Given the description of an element on the screen output the (x, y) to click on. 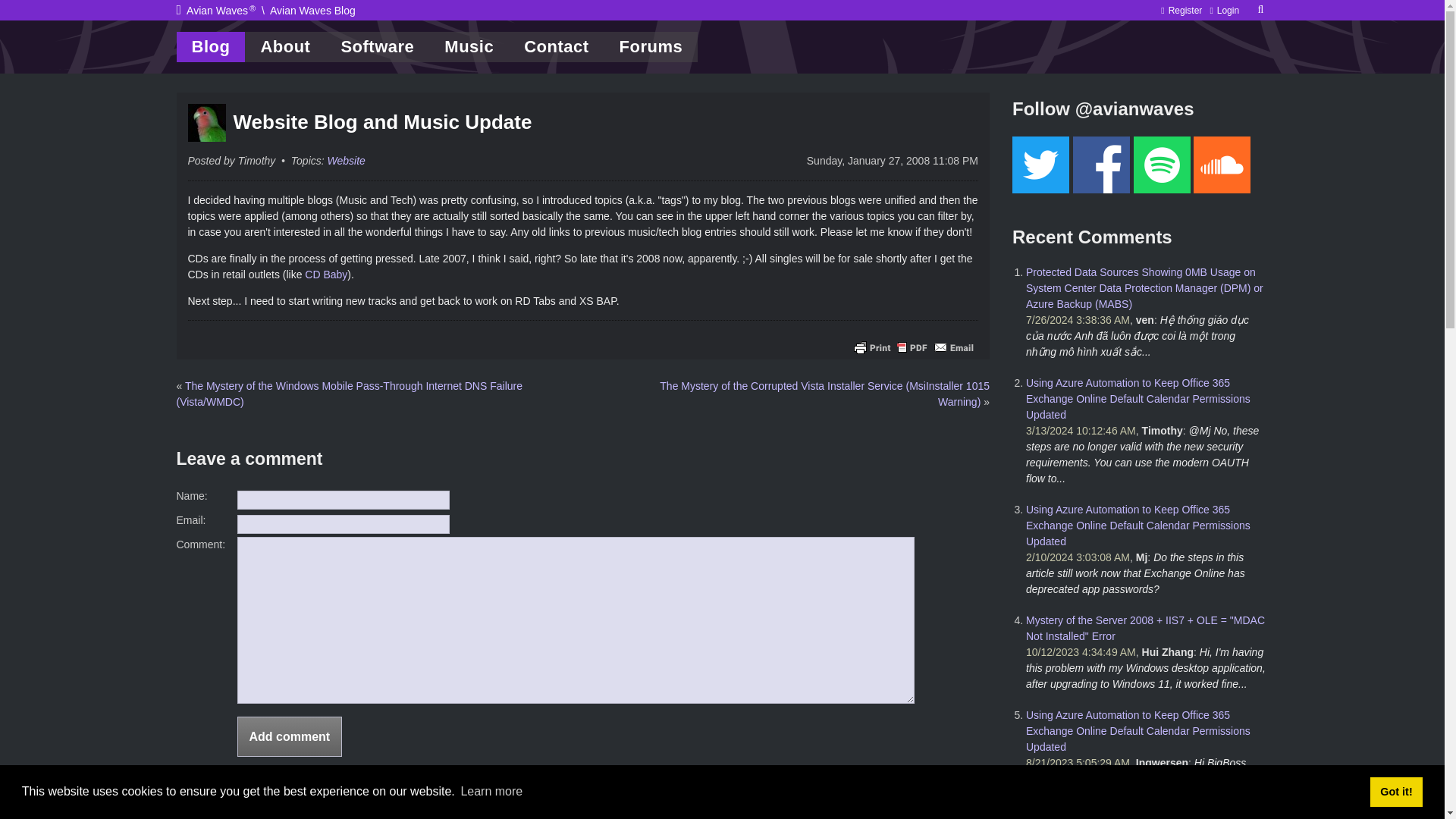
Forums (651, 46)
Avian Waves on Twitter (1039, 164)
Got it! (1396, 791)
Software (376, 46)
Login (1228, 9)
Register (1185, 9)
Avian Waves on Spotify (1221, 164)
Contact (556, 46)
Avian Waves on Spotify (1160, 164)
Printer Friendly and PDF (913, 345)
Login (1228, 9)
Learn more (491, 791)
Register (1185, 9)
About (284, 46)
Blog (210, 46)
